Given the description of an element on the screen output the (x, y) to click on. 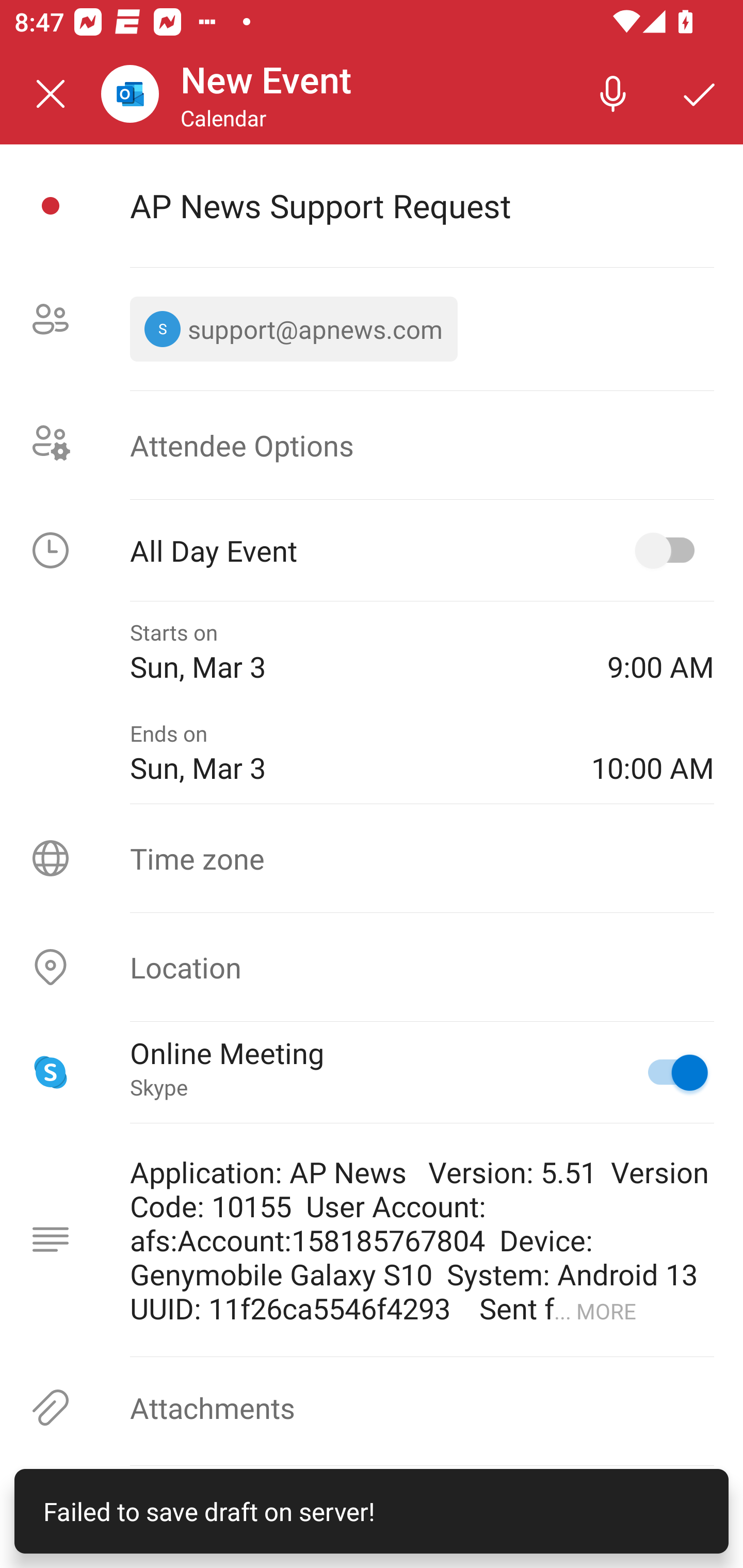
Close (50, 93)
Save (699, 93)
AP News Support Request (422, 205)
Event icon picker (50, 206)
Attendee Options (371, 444)
All Day Event (371, 550)
Starts on Sun, Mar 3 (353, 652)
9:00 AM (660, 652)
Ends on Sun, Mar 3 (345, 752)
10:00 AM (652, 752)
Time zone (371, 858)
Location (371, 966)
Online Meeting, Skype selected (669, 1072)
Attachments (371, 1407)
Repeat Never (371, 1517)
